Given the description of an element on the screen output the (x, y) to click on. 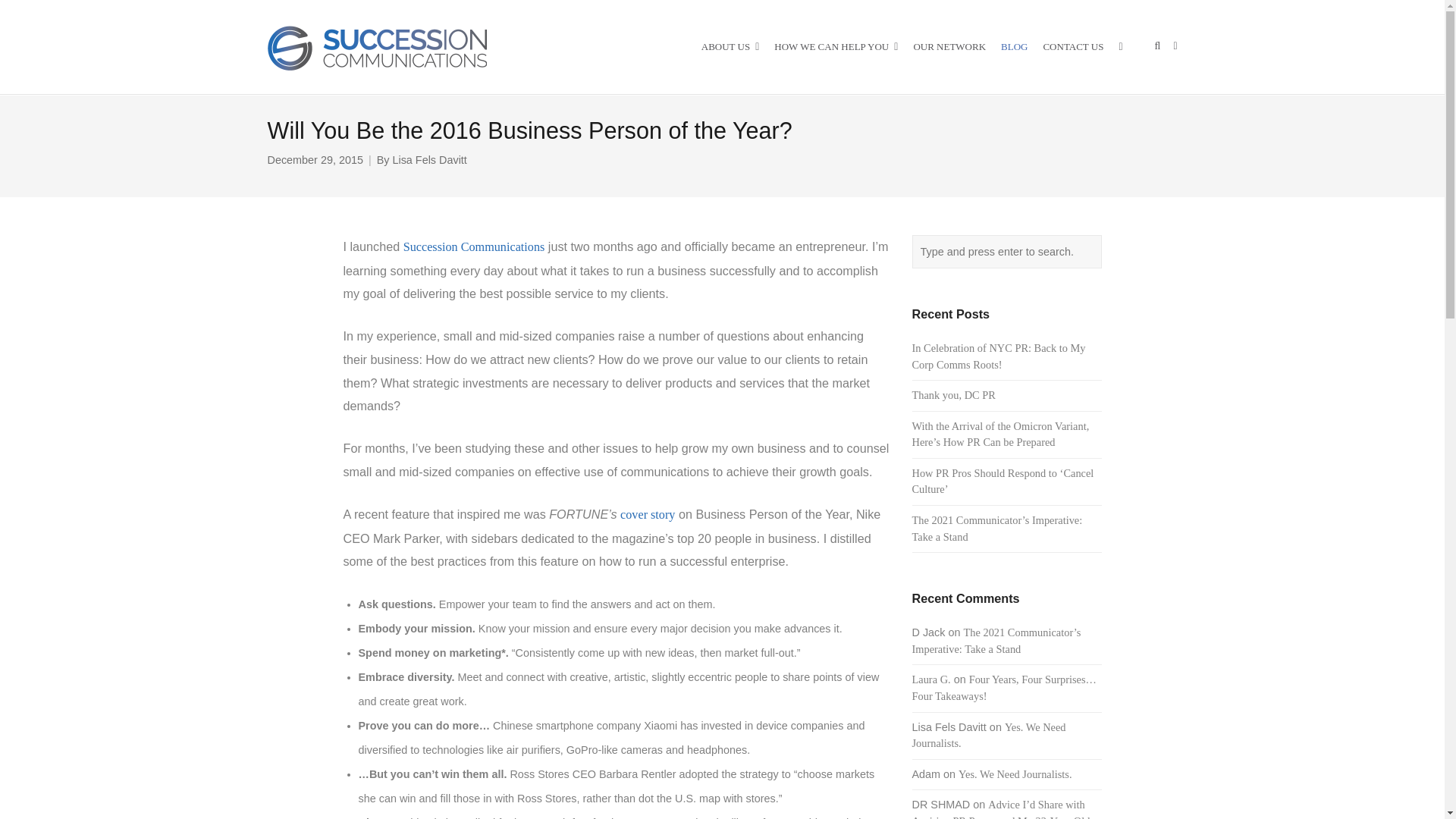
OUR NETWORK (948, 47)
HOW WE CAN HELP YOU (836, 47)
ABOUT US (730, 47)
